Given the description of an element on the screen output the (x, y) to click on. 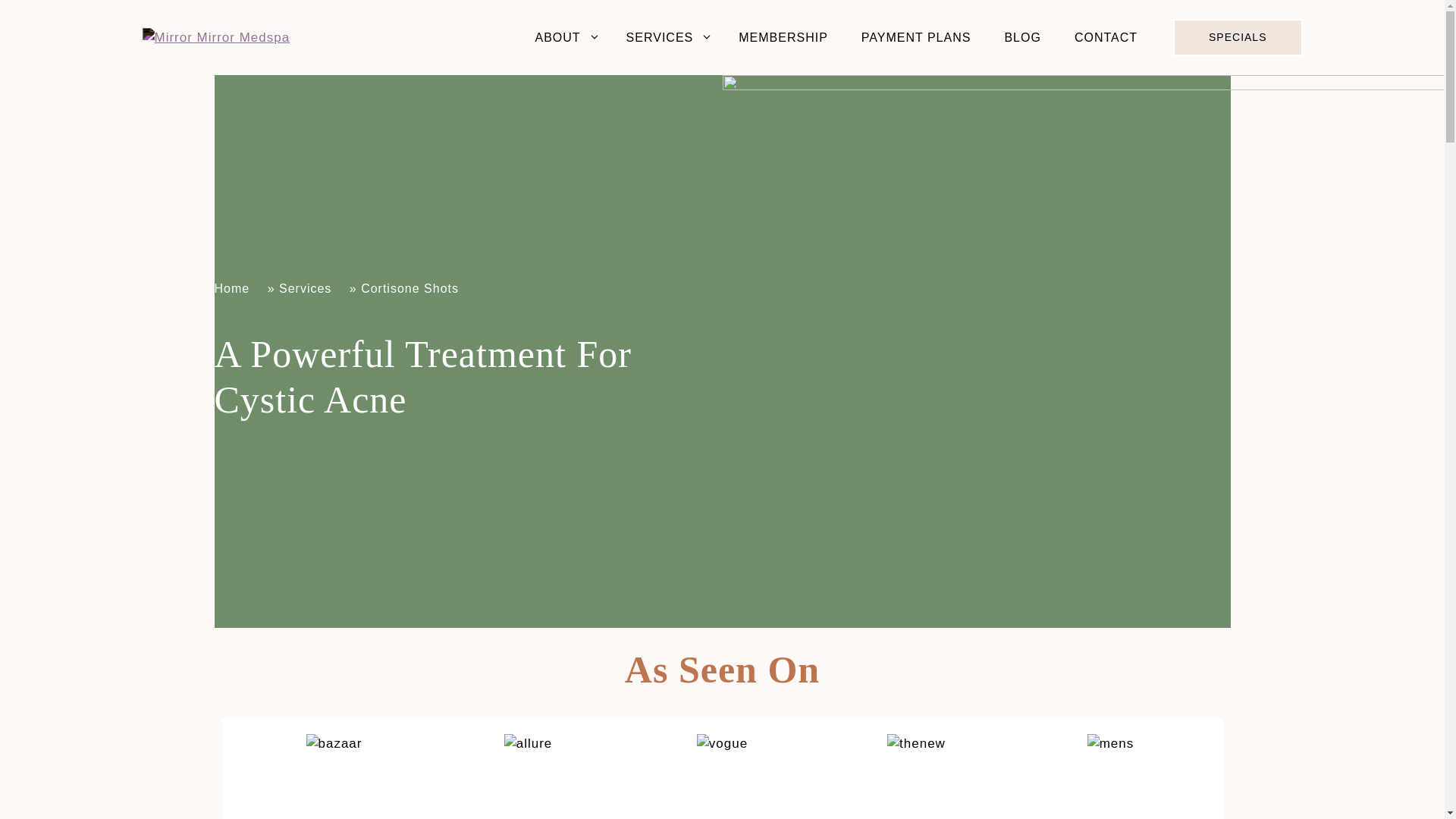
Home (238, 287)
SPECIALS (1237, 37)
ABOUT (563, 37)
PAYMENT PLANS (916, 37)
Services (312, 287)
BLOG (1022, 37)
MEMBERSHIP (783, 37)
SERVICES (666, 37)
CONTACT (1106, 37)
